Given the description of an element on the screen output the (x, y) to click on. 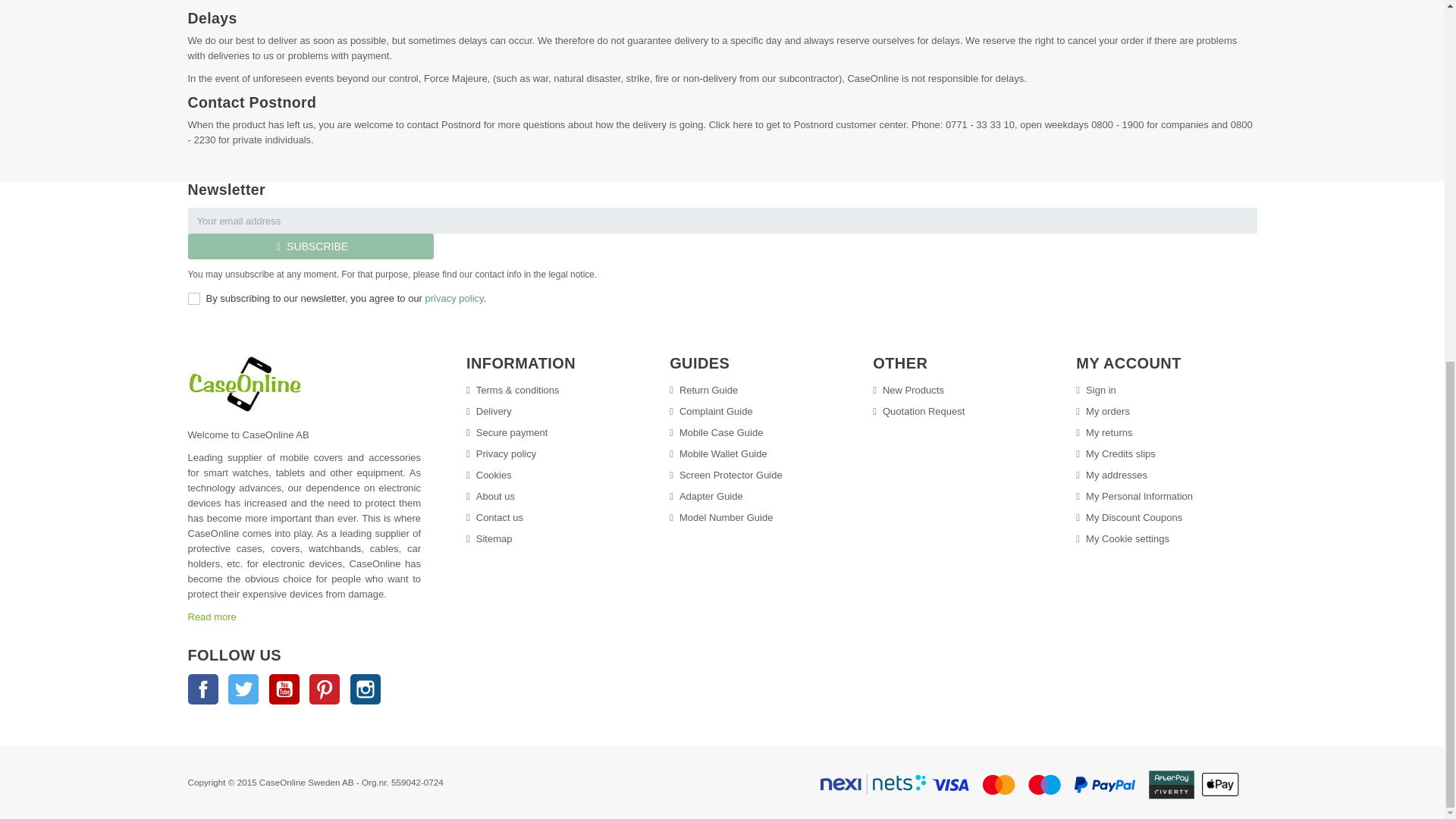
Secure payment (506, 432)
Cookies (488, 474)
Twitter (243, 689)
Delivery (488, 410)
Privacy policy (500, 453)
Sitemap (488, 538)
Facebook (202, 689)
Instagram (365, 689)
Pinterest (323, 689)
Contact us (493, 517)
YouTube (284, 689)
About us (490, 496)
